Given the description of an element on the screen output the (x, y) to click on. 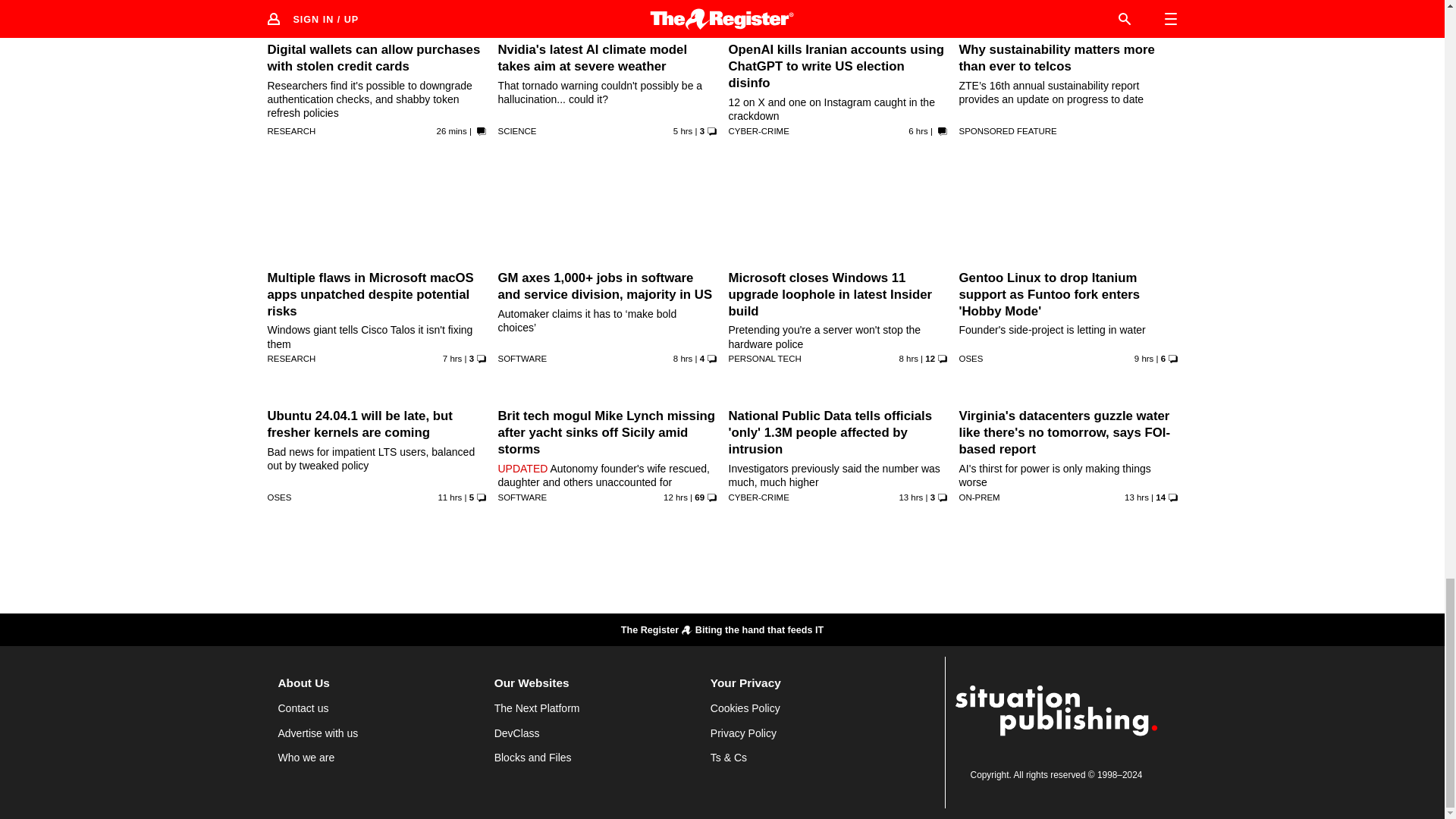
20 Aug 2024 1:29 (451, 130)
19 Aug 2024 20:10 (918, 130)
19 Aug 2024 19:1 (452, 358)
19 Aug 2024 16:44 (1144, 358)
19 Aug 2024 21:10 (682, 130)
19 Aug 2024 18:4 (682, 358)
19 Aug 2024 15:15 (449, 497)
19 Aug 2024 17:41 (908, 358)
19 Aug 2024 13:47 (675, 497)
